Given the description of an element on the screen output the (x, y) to click on. 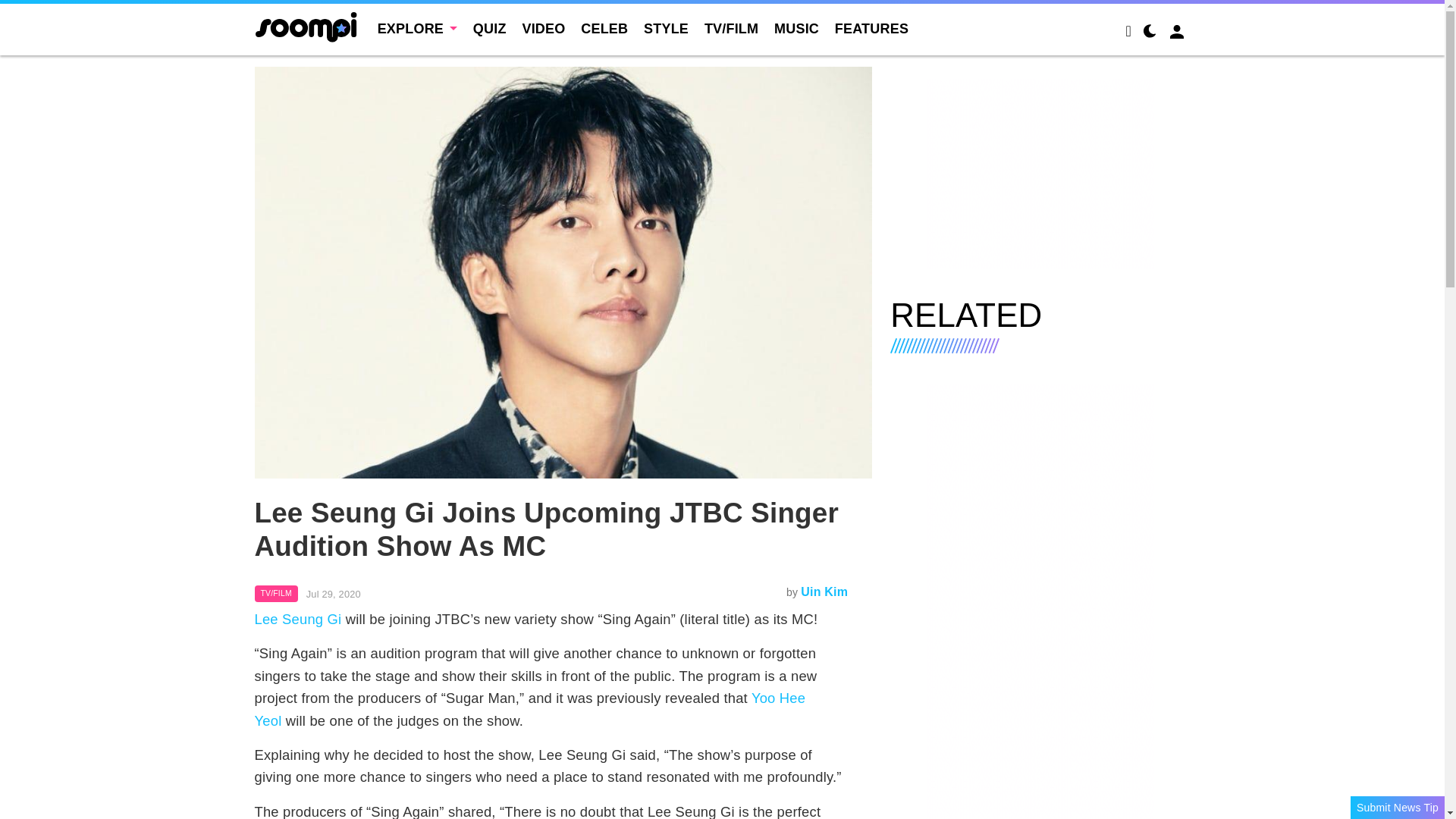
STYLE (665, 28)
CELEB (603, 28)
Night Mode Toggle (1149, 33)
FEATURES (871, 28)
EXPLORE (417, 28)
MUSIC (796, 28)
QUIZ (489, 28)
3rd party ad content (1040, 173)
Uin Kim (823, 591)
Yoo Hee Yeol (530, 709)
Articles by Uin Kim (823, 591)
Lee Seung Gi (298, 618)
VIDEO (542, 28)
